Given the description of an element on the screen output the (x, y) to click on. 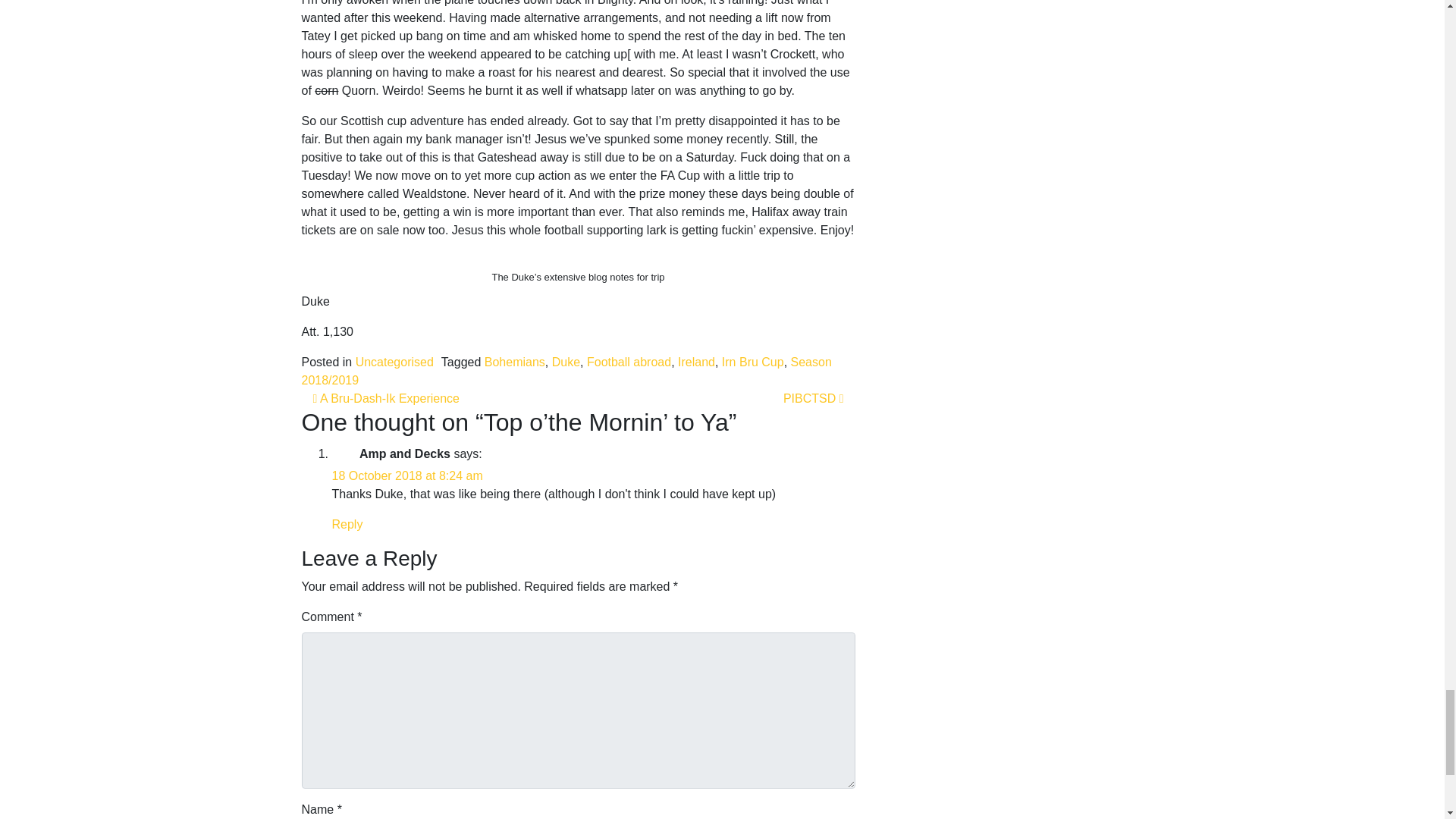
Irn Bru Cup (753, 361)
Bohemians (514, 361)
 A Bru-Dash-Ik Experience (385, 398)
Duke (565, 361)
Reply (346, 523)
18 October 2018 at 8:24 am (407, 475)
Uncategorised (394, 361)
Ireland (696, 361)
Football abroad (628, 361)
PIBCTSD  (813, 398)
